Given the description of an element on the screen output the (x, y) to click on. 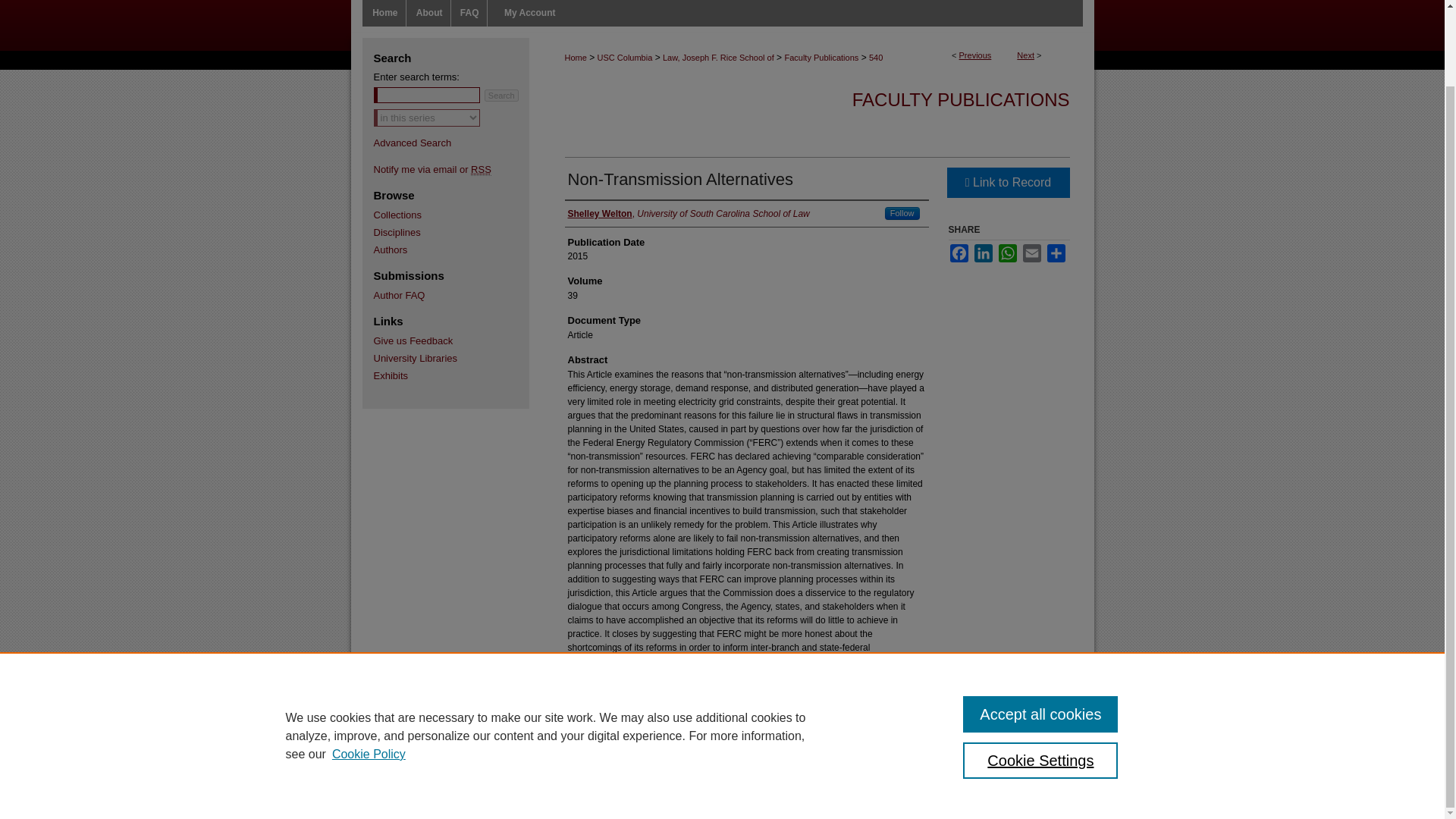
Browse by Disciplines (457, 232)
Law, Joseph F. Rice School of (718, 57)
Search (501, 95)
Search (501, 95)
Link opens in new window (1007, 182)
Faculty Publications (821, 57)
Link to Record (1007, 182)
WhatsApp (1006, 253)
Shelley Welton, University of South Carolina School of Law (688, 213)
Authors (457, 249)
USC Columbia (624, 57)
Share (1055, 253)
Email or RSS Notifications (457, 169)
FAQ (469, 13)
Home (575, 57)
